Given the description of an element on the screen output the (x, y) to click on. 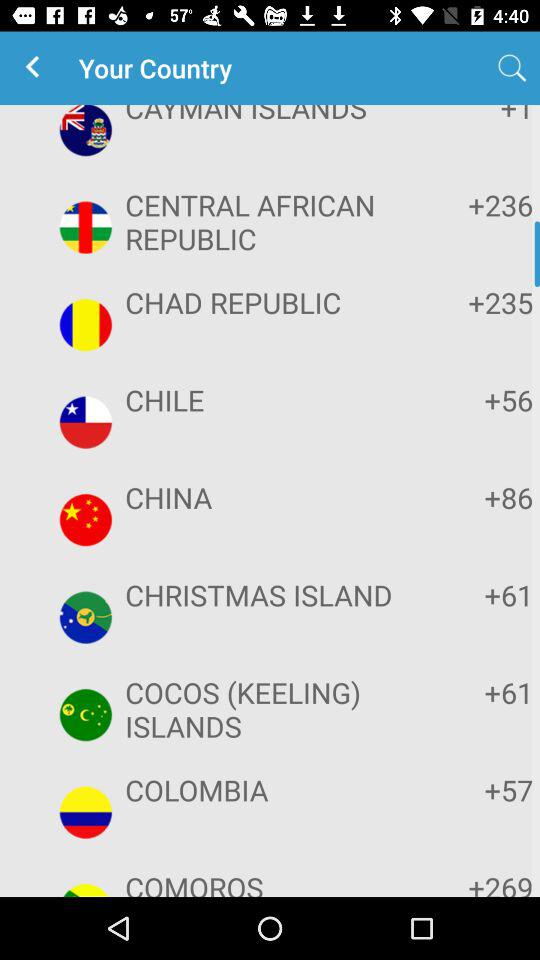
swipe until the cocos (keeling) islands (267, 709)
